Given the description of an element on the screen output the (x, y) to click on. 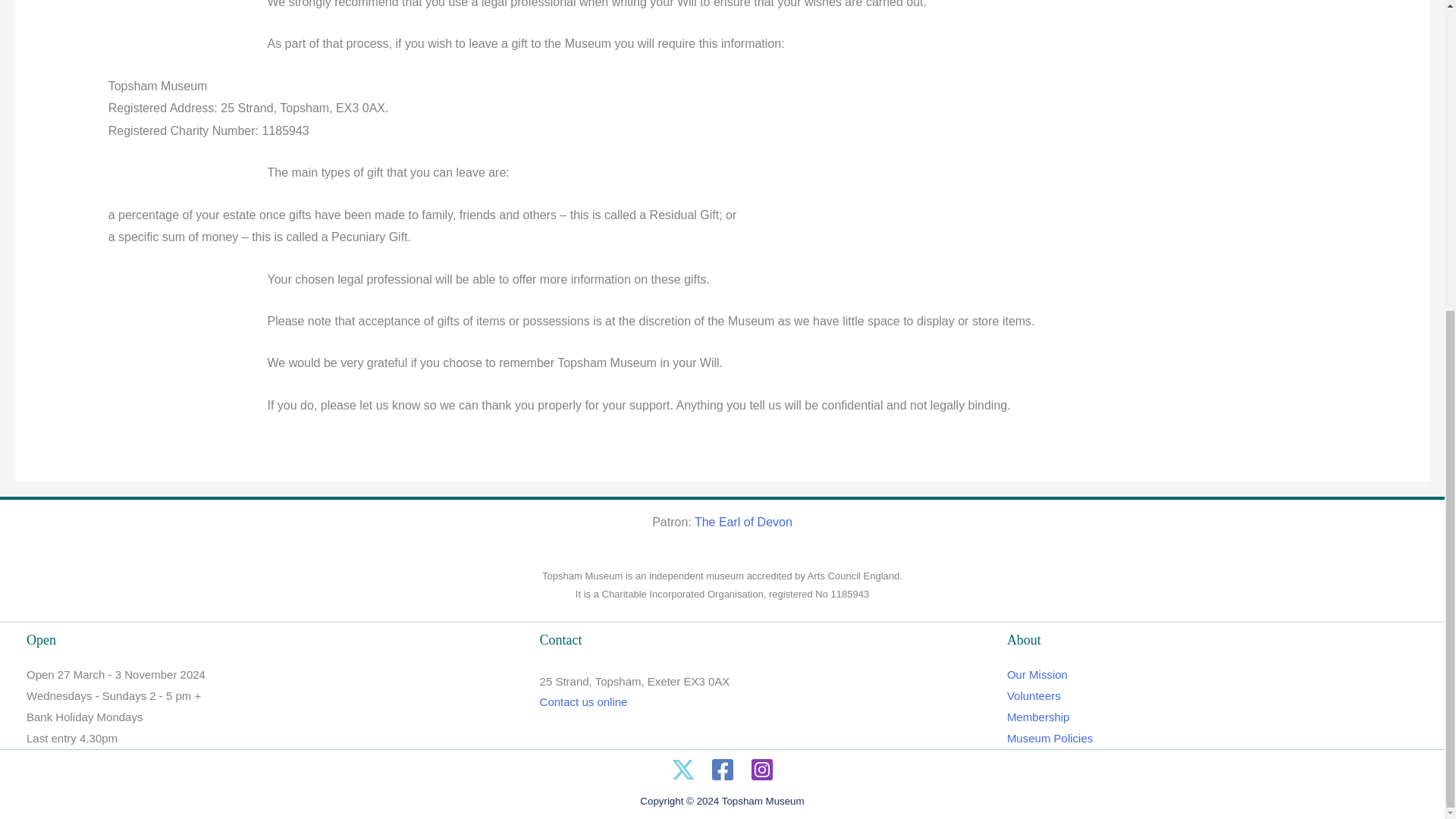
Contact us online (583, 701)
Membership (1038, 716)
The Earl of Devon (743, 521)
Museum Policies (1050, 738)
Our Mission (1037, 674)
Volunteers (1034, 695)
